Given the description of an element on the screen output the (x, y) to click on. 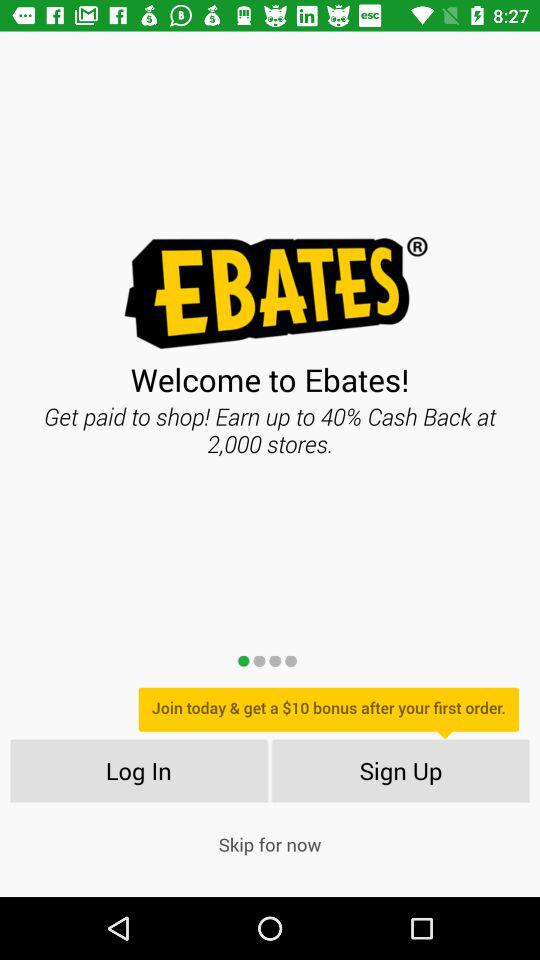
open item next to the sign up icon (138, 770)
